Given the description of an element on the screen output the (x, y) to click on. 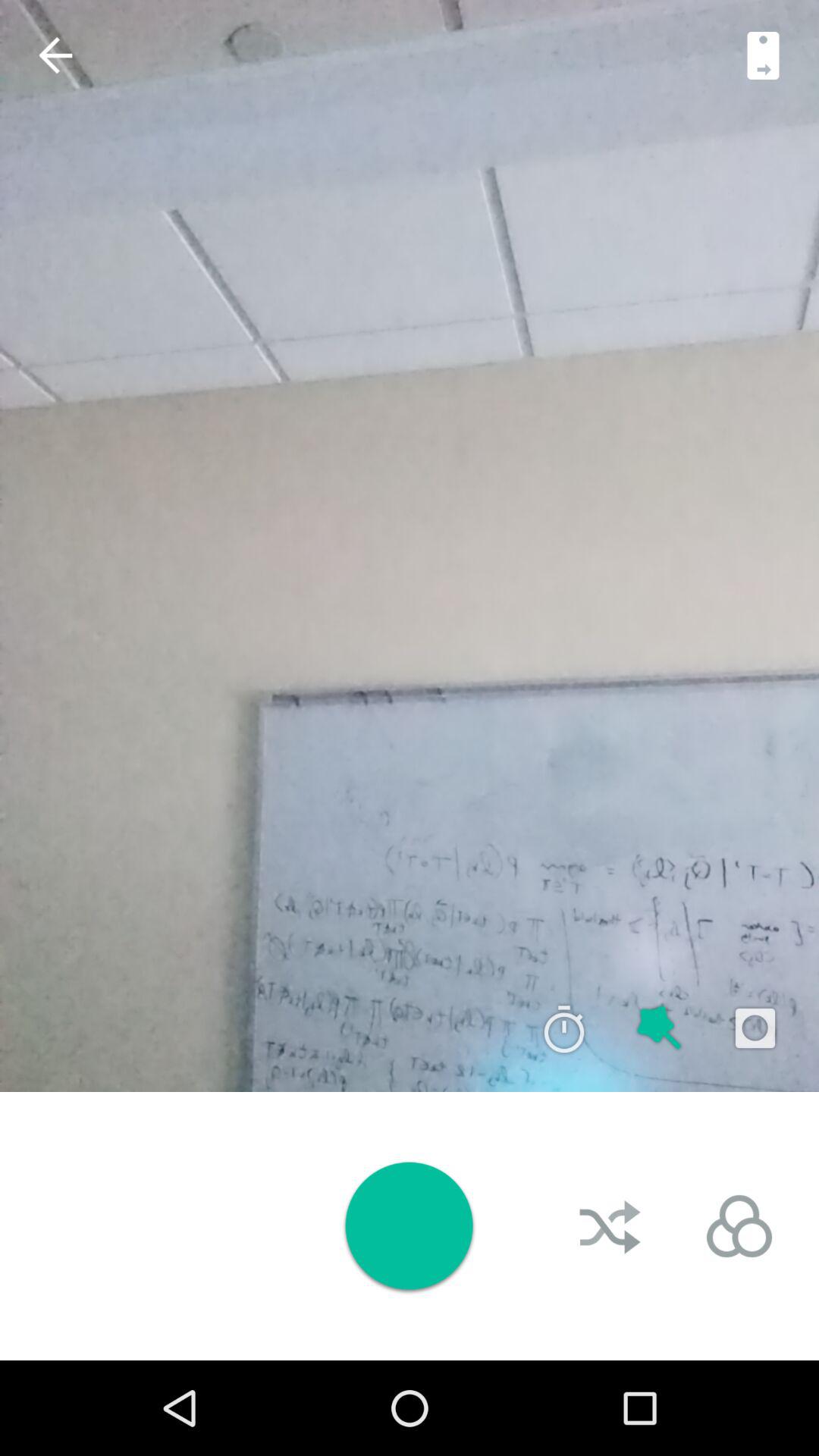
click to zoom (659, 1028)
